Given the description of an element on the screen output the (x, y) to click on. 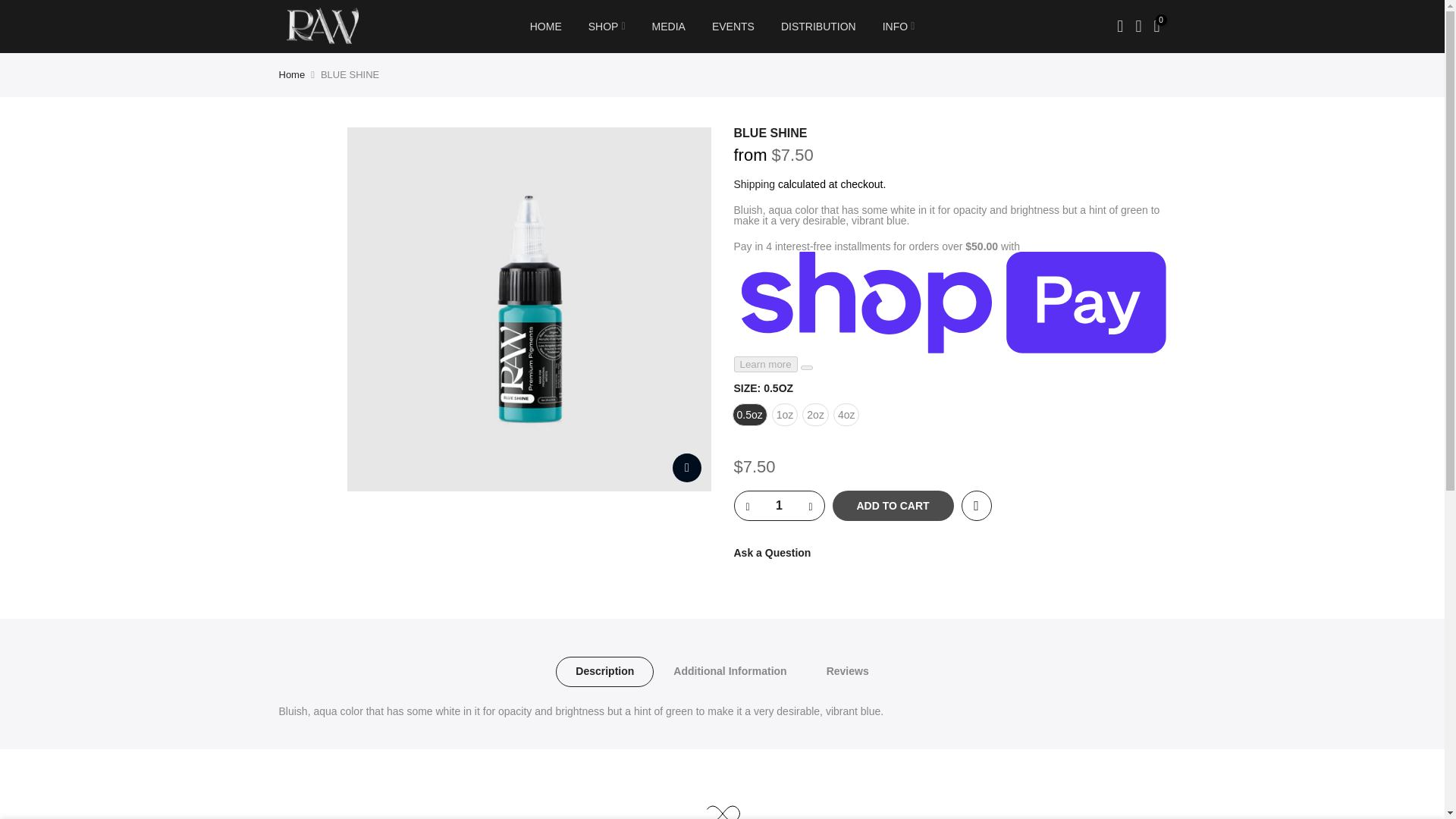
HOME (545, 26)
EVENTS (732, 26)
SHOP (607, 26)
Reviews (847, 671)
1 (778, 505)
Shipping (754, 184)
DISTRIBUTION (818, 26)
ADD TO CART (892, 505)
INFO (898, 26)
Home (292, 74)
